Given the description of an element on the screen output the (x, y) to click on. 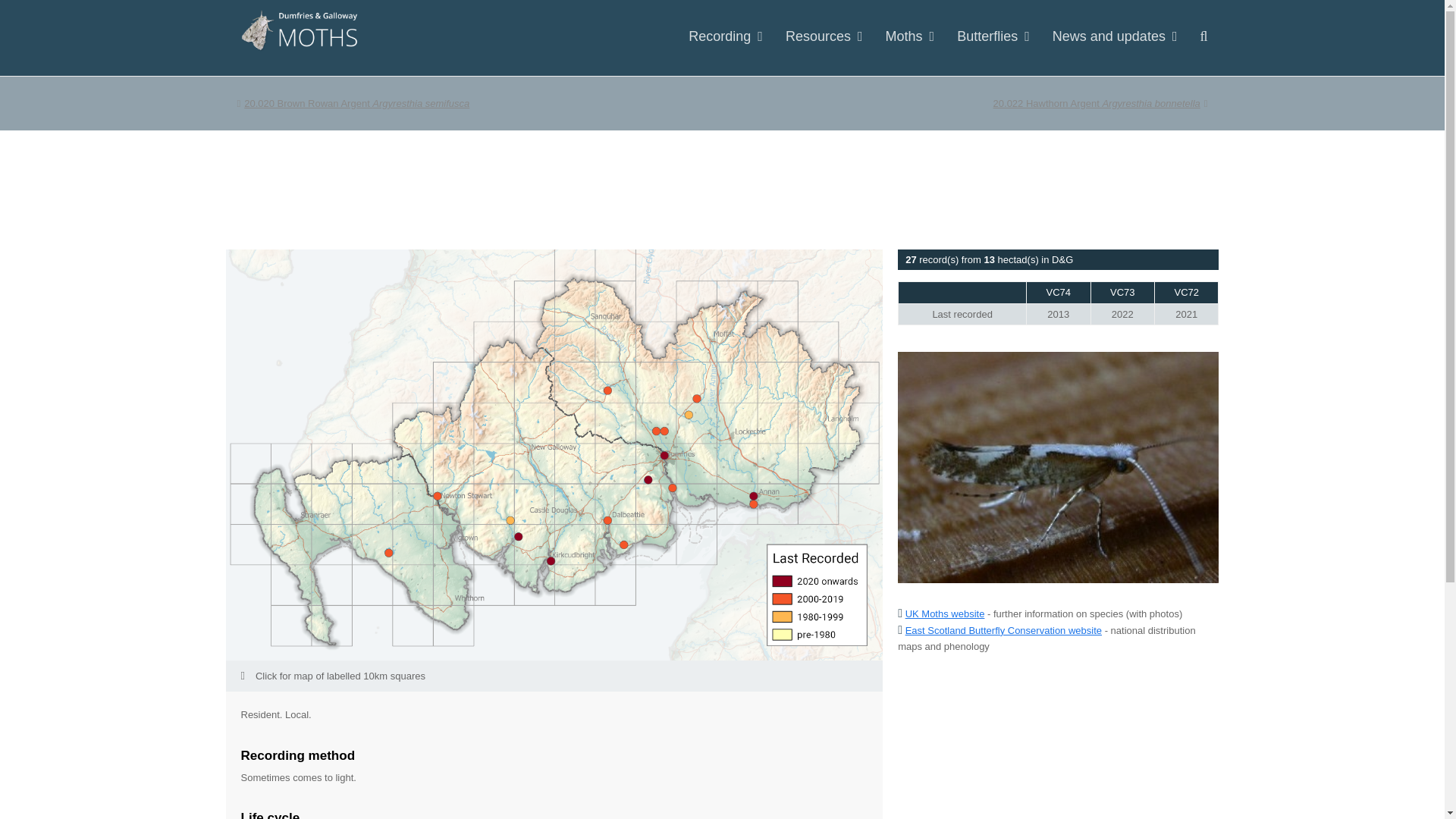
East Scotland Butterfly Conservation website (1003, 630)
Butterflies (992, 37)
Resources (824, 37)
UK Moths website (945, 613)
News and updates (1115, 37)
Click for map of labelled 10km squares (554, 675)
Recording (725, 37)
Moths (1100, 102)
